Given the description of an element on the screen output the (x, y) to click on. 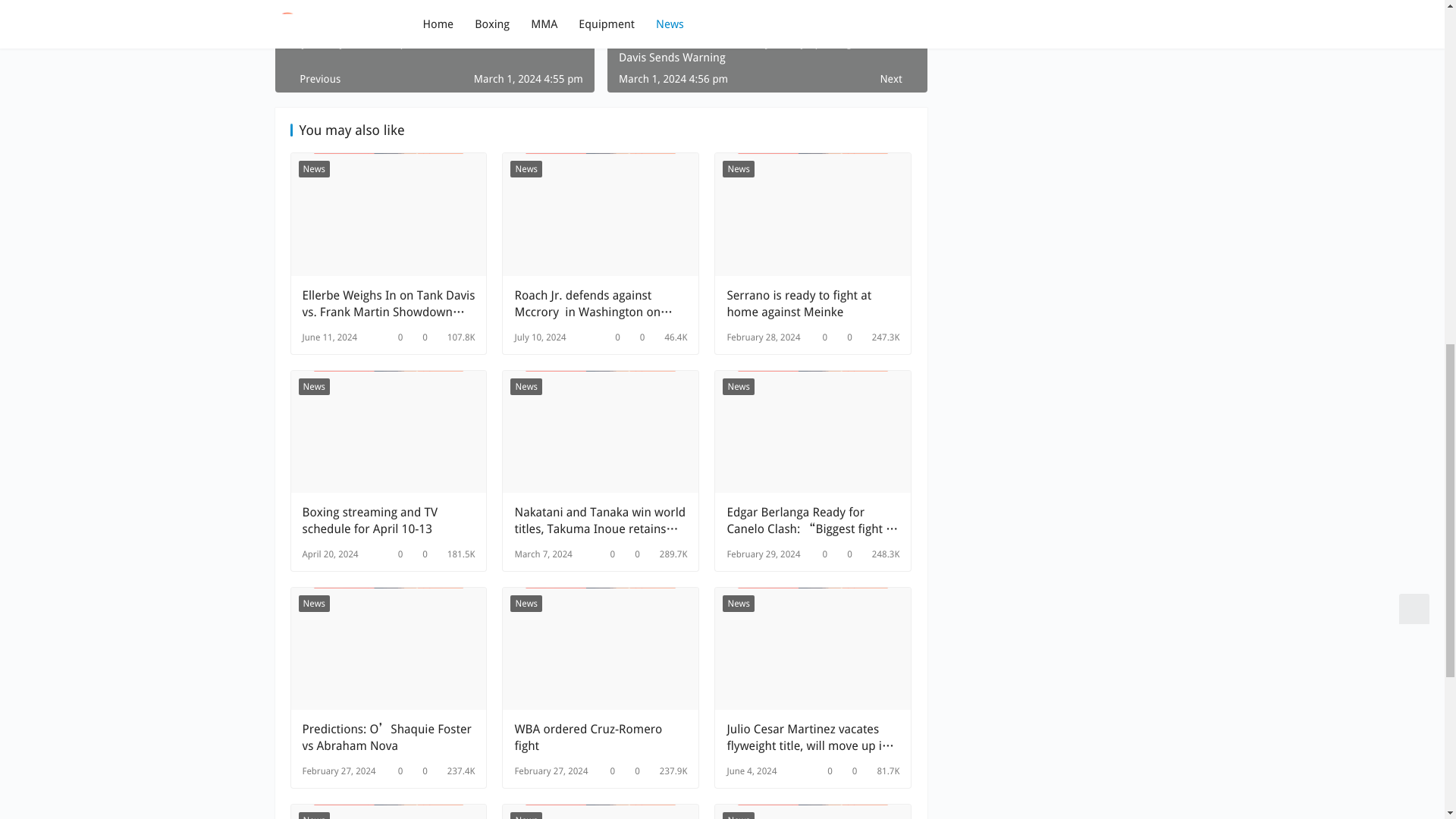
News (314, 168)
Boxing streaming and TV schedule for April 10-13 (387, 520)
Serrano is ready to fight at home against Meinke  (812, 304)
News (314, 386)
Boxing streaming and TV schedule for April 10-13 (387, 520)
Boxing streaming and TV schedule for April 10-13 (388, 432)
